Given the description of an element on the screen output the (x, y) to click on. 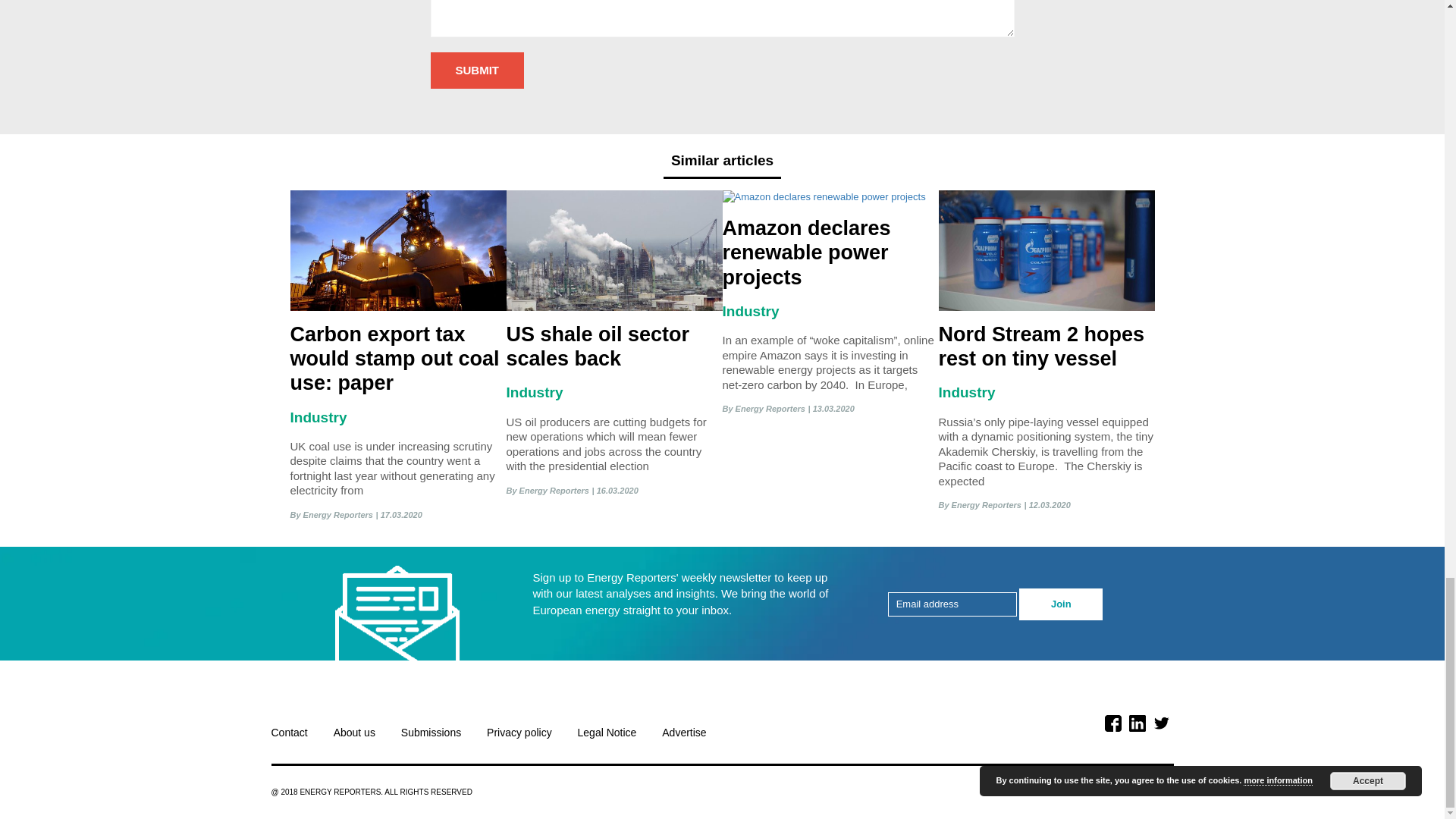
Submit (477, 70)
Join (1060, 603)
